Given the description of an element on the screen output the (x, y) to click on. 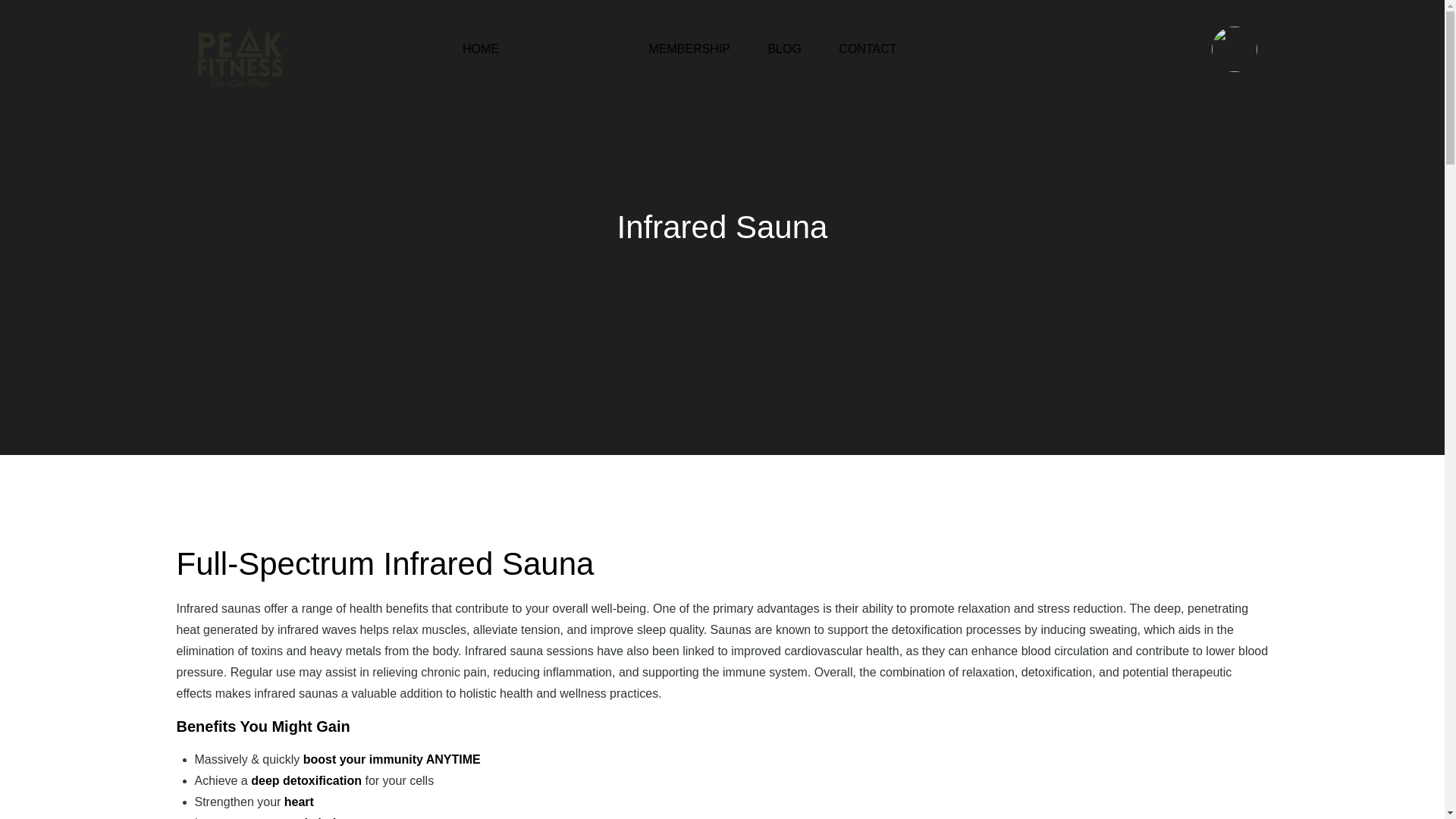
ABOUT US (573, 44)
BLOG (784, 44)
MEMBERSHIP (689, 44)
CONTACT (867, 44)
HOME (480, 44)
